Given the description of an element on the screen output the (x, y) to click on. 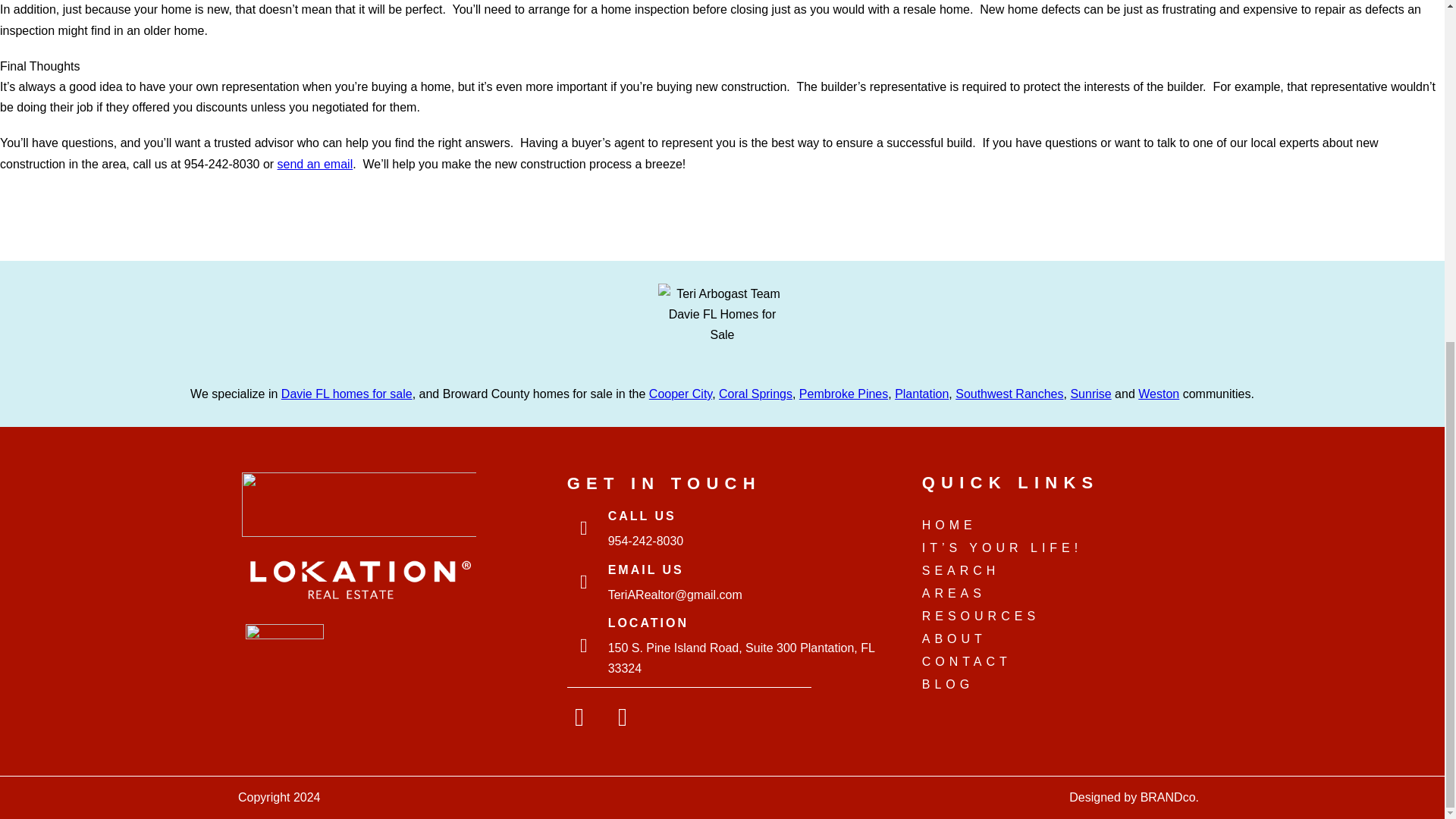
Cooper City (680, 393)
Davie FL homes for sale (346, 393)
send an email (315, 164)
